Given the description of an element on the screen output the (x, y) to click on. 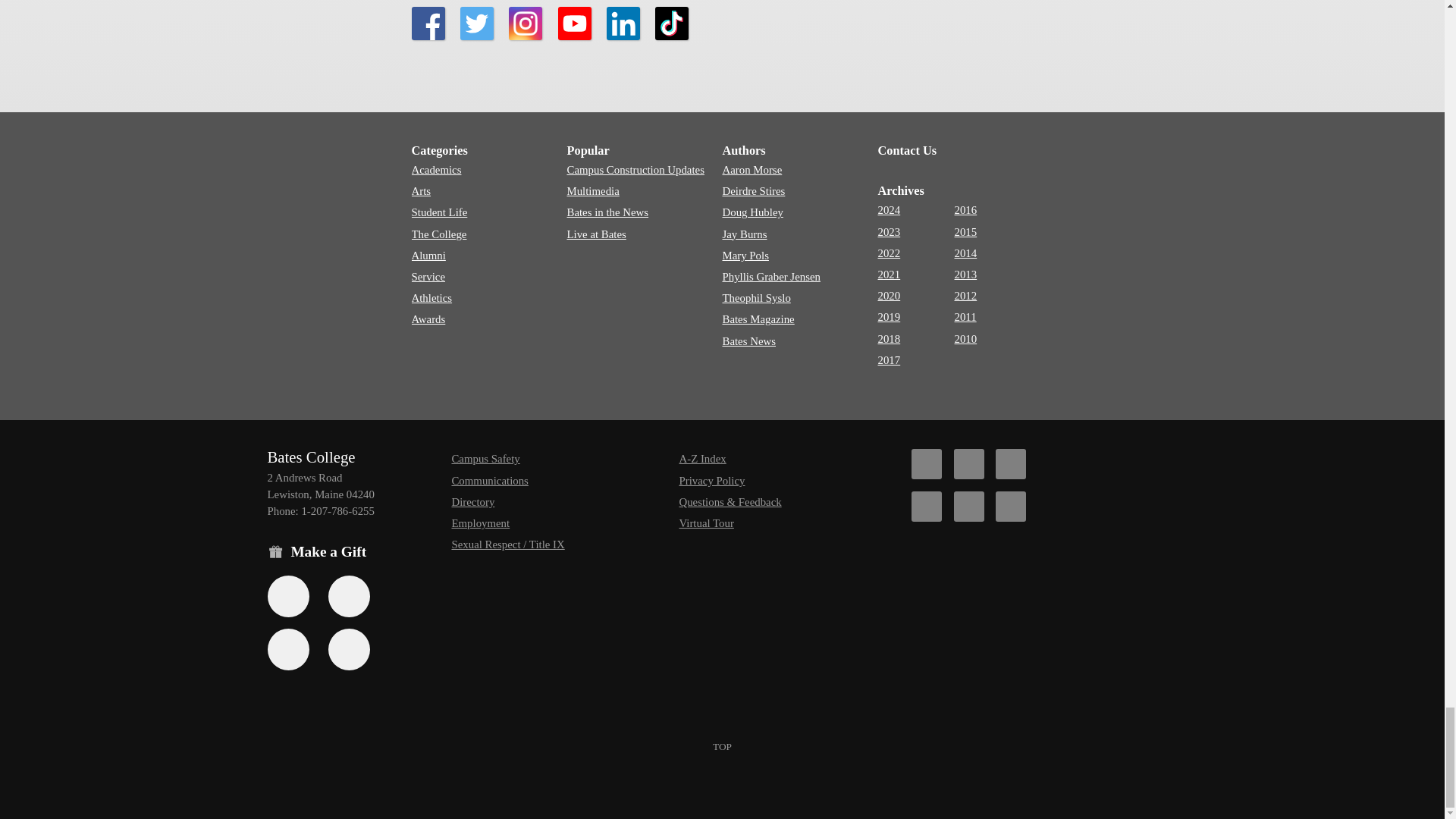
Link to Linkedin (623, 23)
Tiktok icon (1010, 463)
Facebook icon (926, 463)
Twitter icon (968, 463)
Link to Tiktok (671, 23)
Link to Instagram (524, 23)
Link to Twitter (476, 23)
Link to Facebook (427, 23)
Link to Youtube (574, 23)
